Given the description of an element on the screen output the (x, y) to click on. 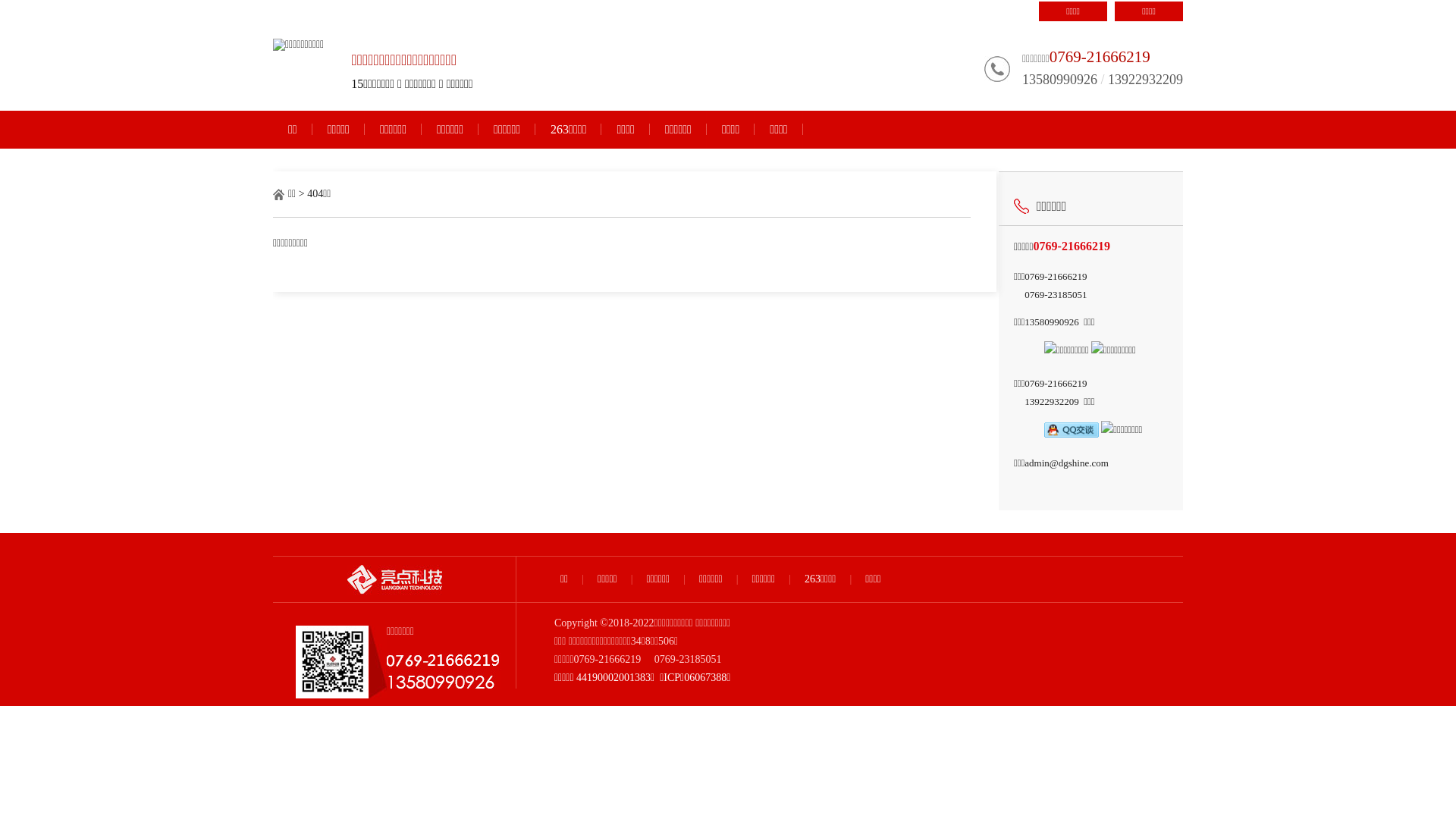
admin@dgshine.com Element type: text (1066, 462)
